Given the description of an element on the screen output the (x, y) to click on. 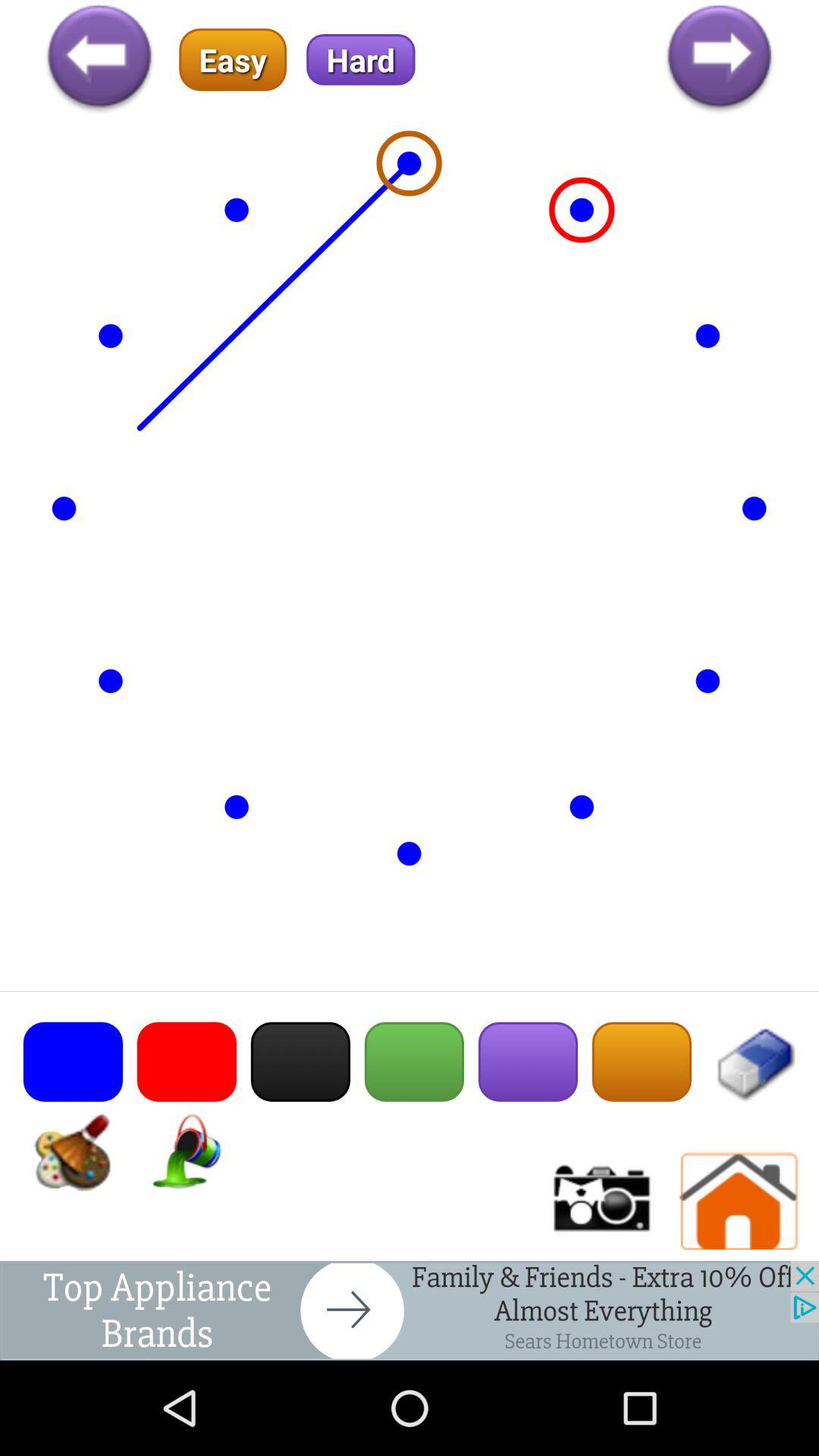
go to images (599, 1200)
